Given the description of an element on the screen output the (x, y) to click on. 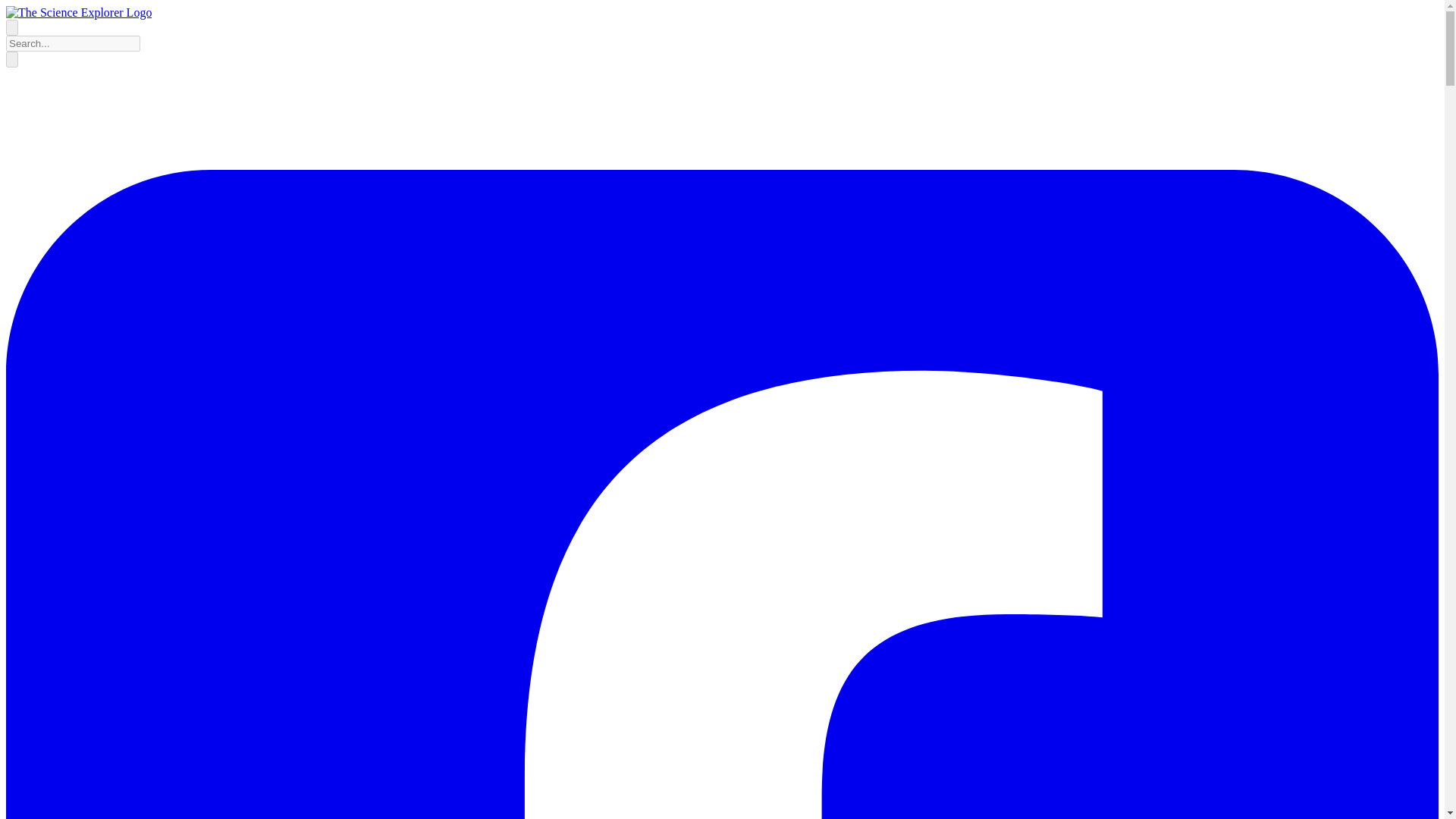
Close Search (11, 59)
Open Search (11, 27)
